Given the description of an element on the screen output the (x, y) to click on. 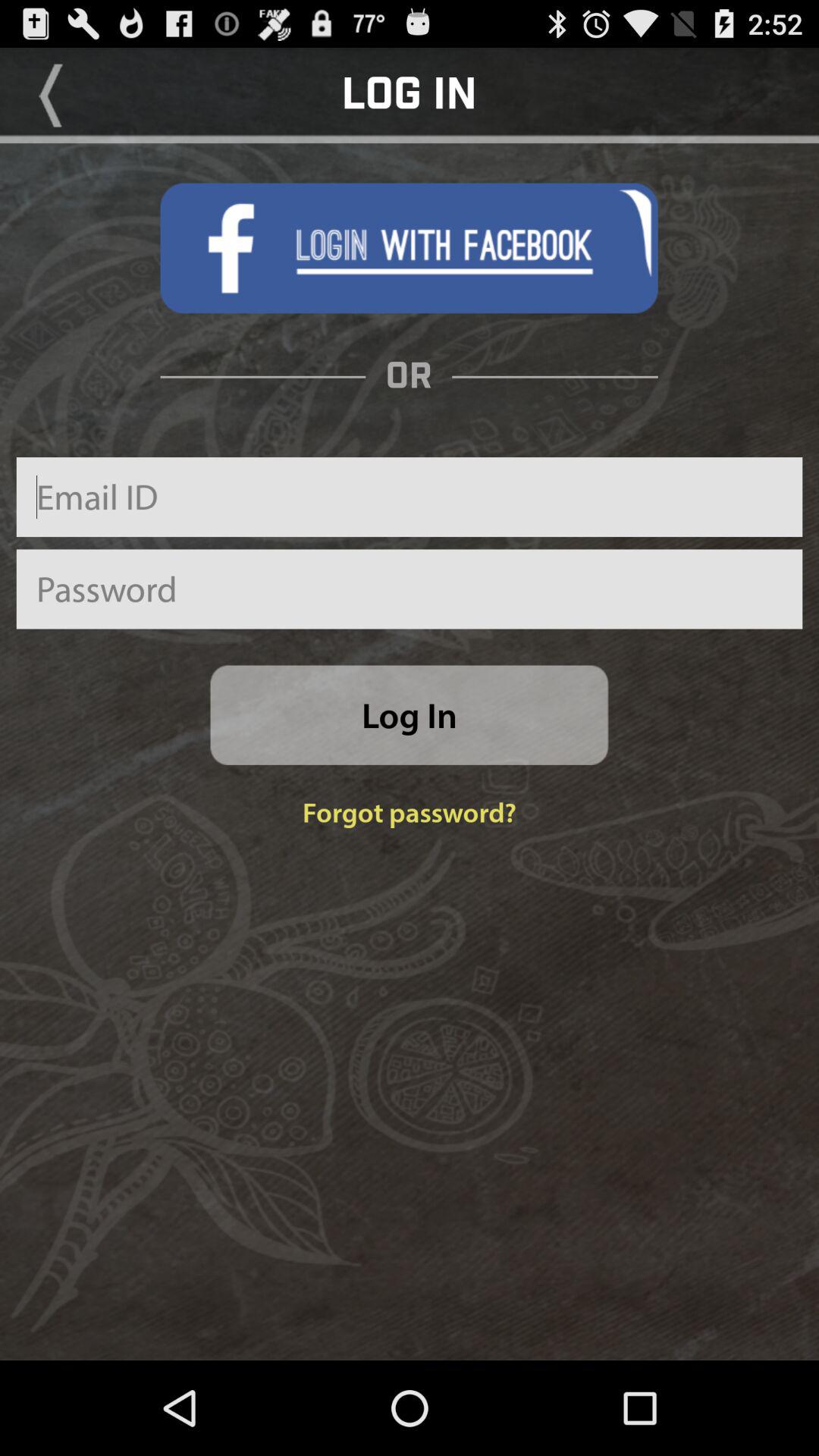
click to enter password (409, 589)
